Given the description of an element on the screen output the (x, y) to click on. 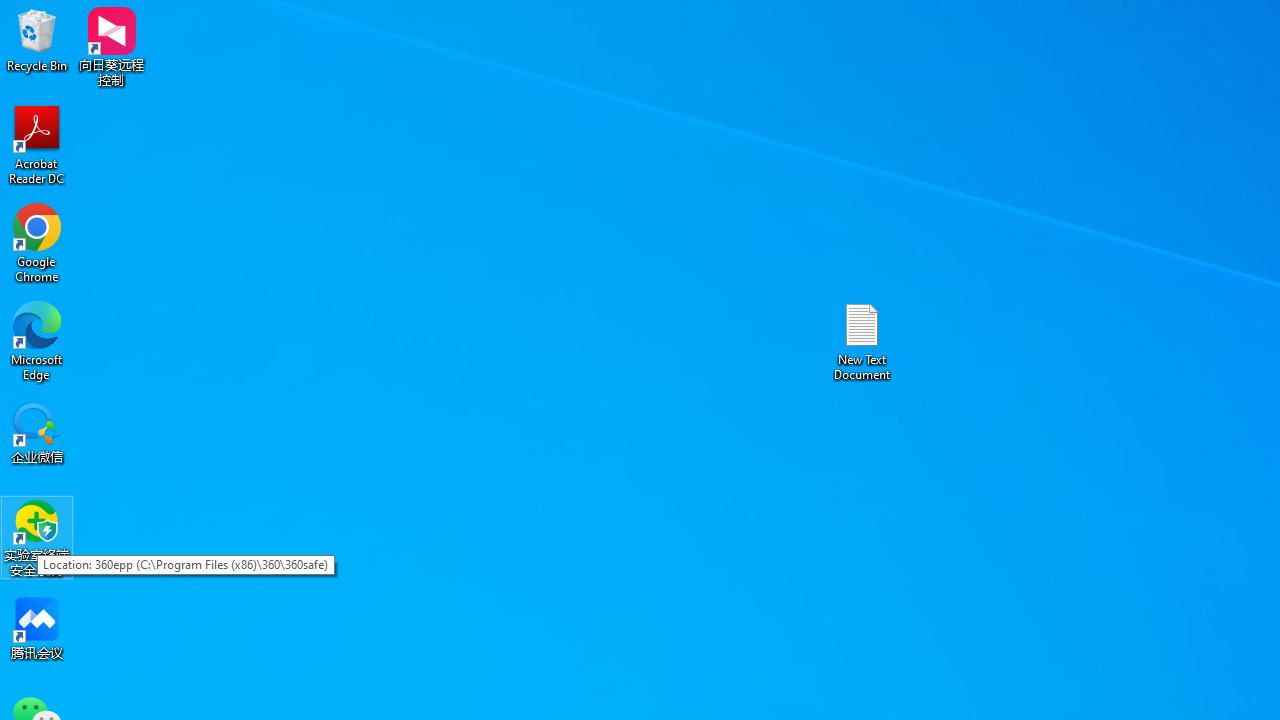
Recycle Bin (37, 39)
New Text Document (861, 340)
Acrobat Reader DC (37, 144)
Microsoft Edge (37, 340)
Google Chrome (37, 242)
